Given the description of an element on the screen output the (x, y) to click on. 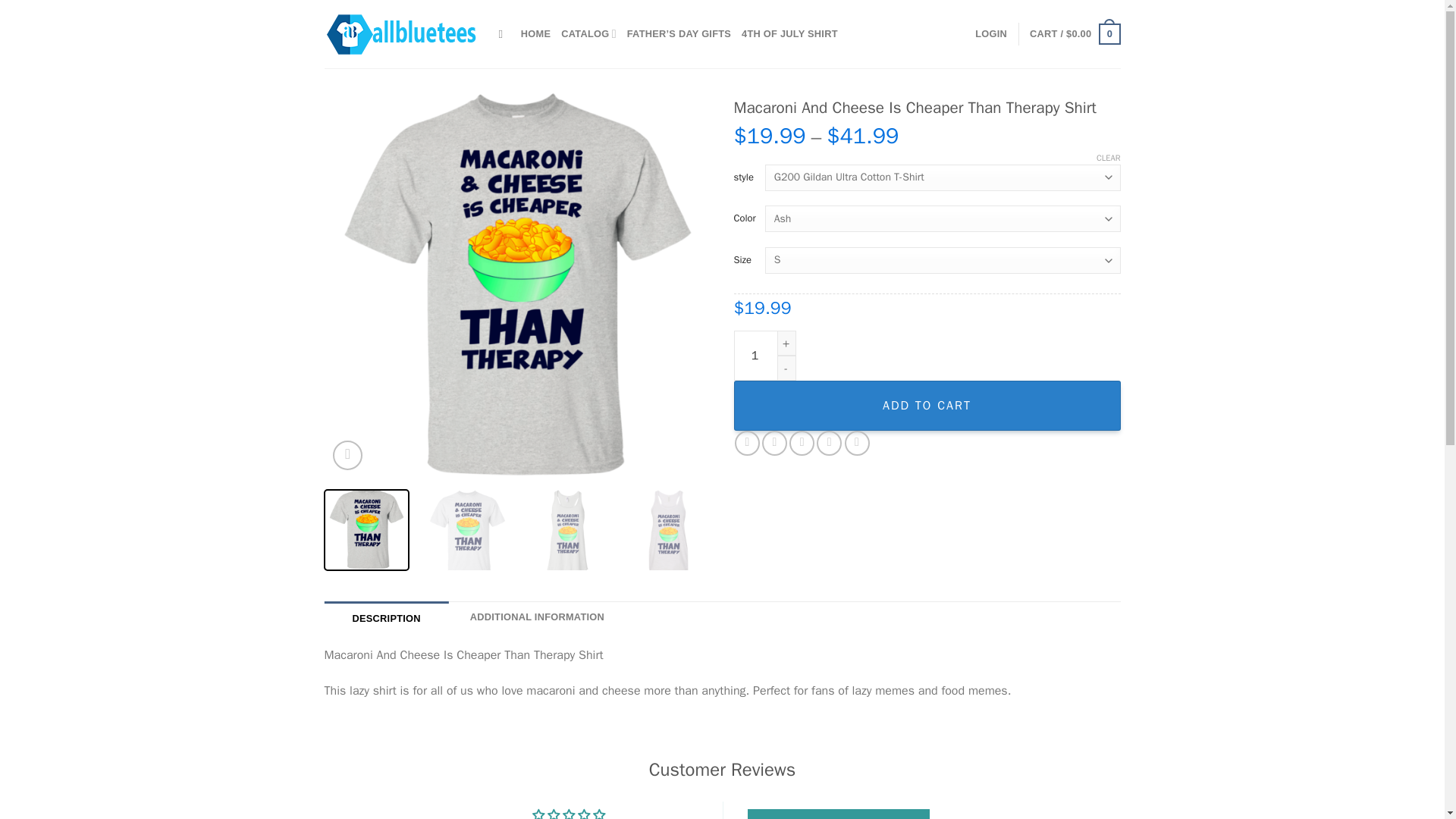
1 (764, 355)
CATALOG (587, 33)
LOGIN (991, 33)
Qty (764, 355)
Cart (1074, 34)
HOME (535, 33)
4TH OF JULY SHIRT (789, 33)
